Given the description of an element on the screen output the (x, y) to click on. 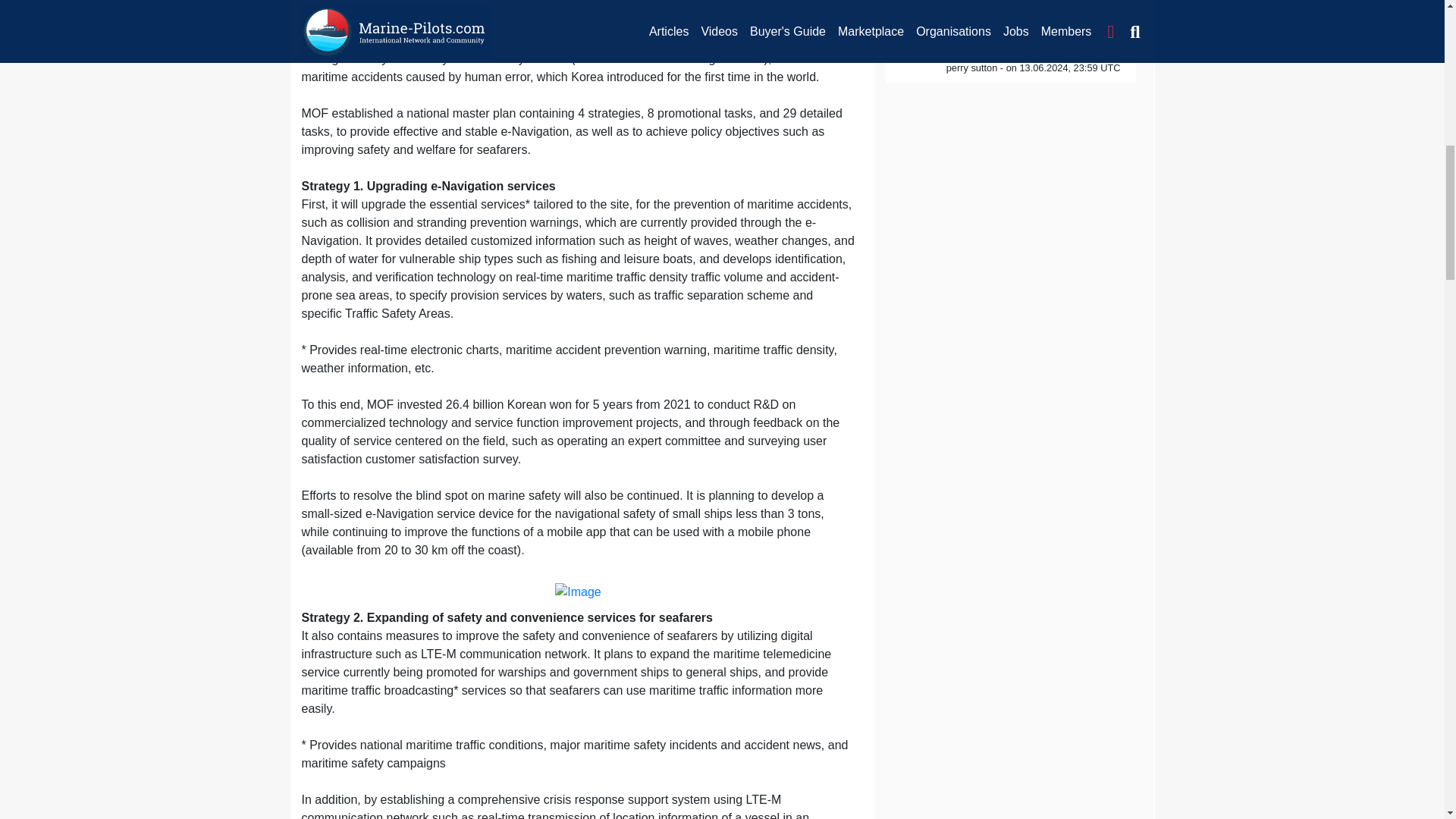
Image (576, 590)
